Given the description of an element on the screen output the (x, y) to click on. 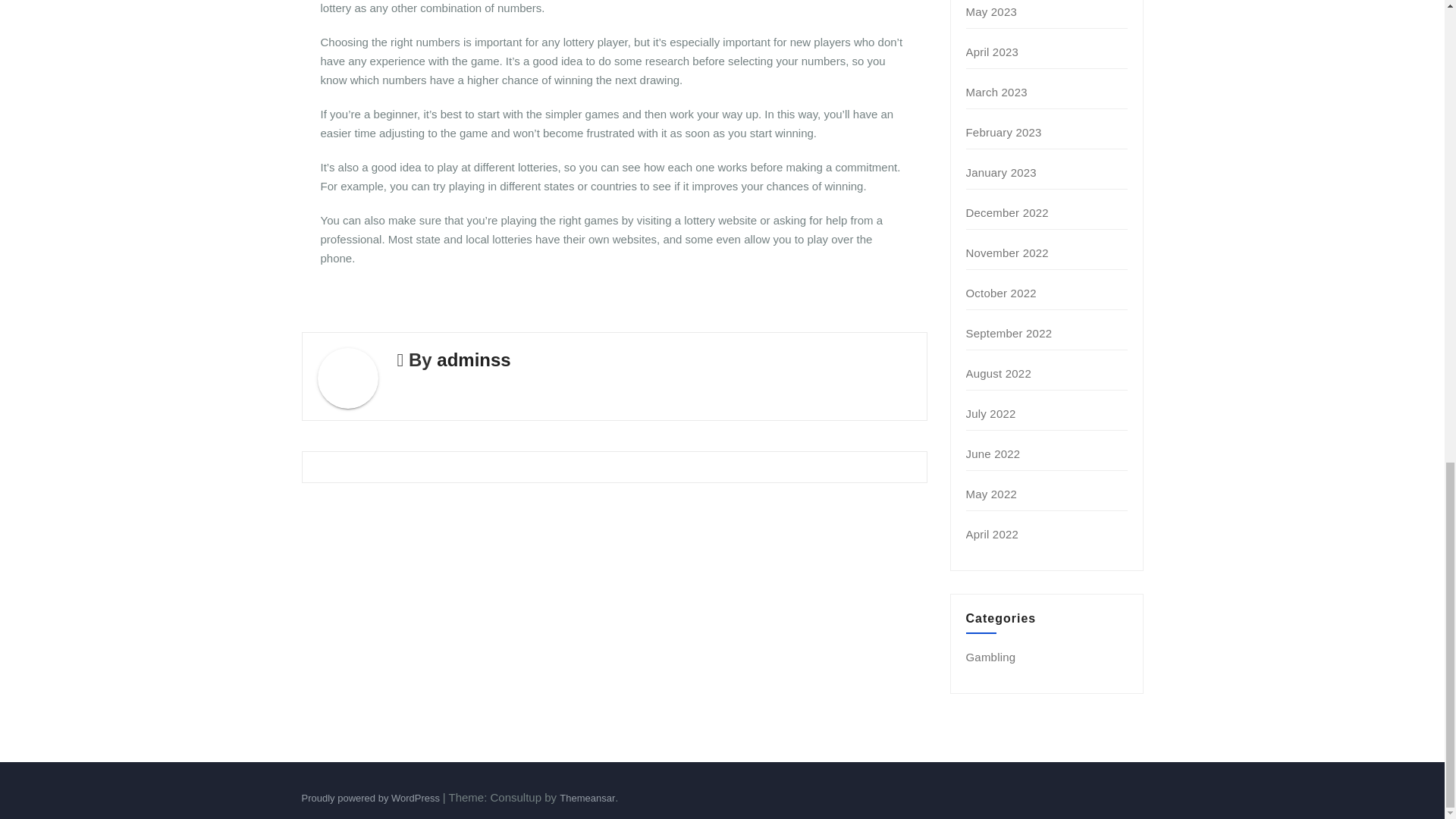
April 2023 (992, 51)
May 2023 (991, 11)
Gambling (991, 656)
December 2022 (1007, 212)
June 2022 (993, 453)
Themeansar (586, 797)
August 2022 (998, 373)
September 2022 (1009, 332)
March 2023 (996, 91)
July 2022 (991, 413)
February 2023 (1004, 132)
October 2022 (1001, 292)
adminss (473, 359)
Proudly powered by WordPress (371, 797)
November 2022 (1007, 252)
